Given the description of an element on the screen output the (x, y) to click on. 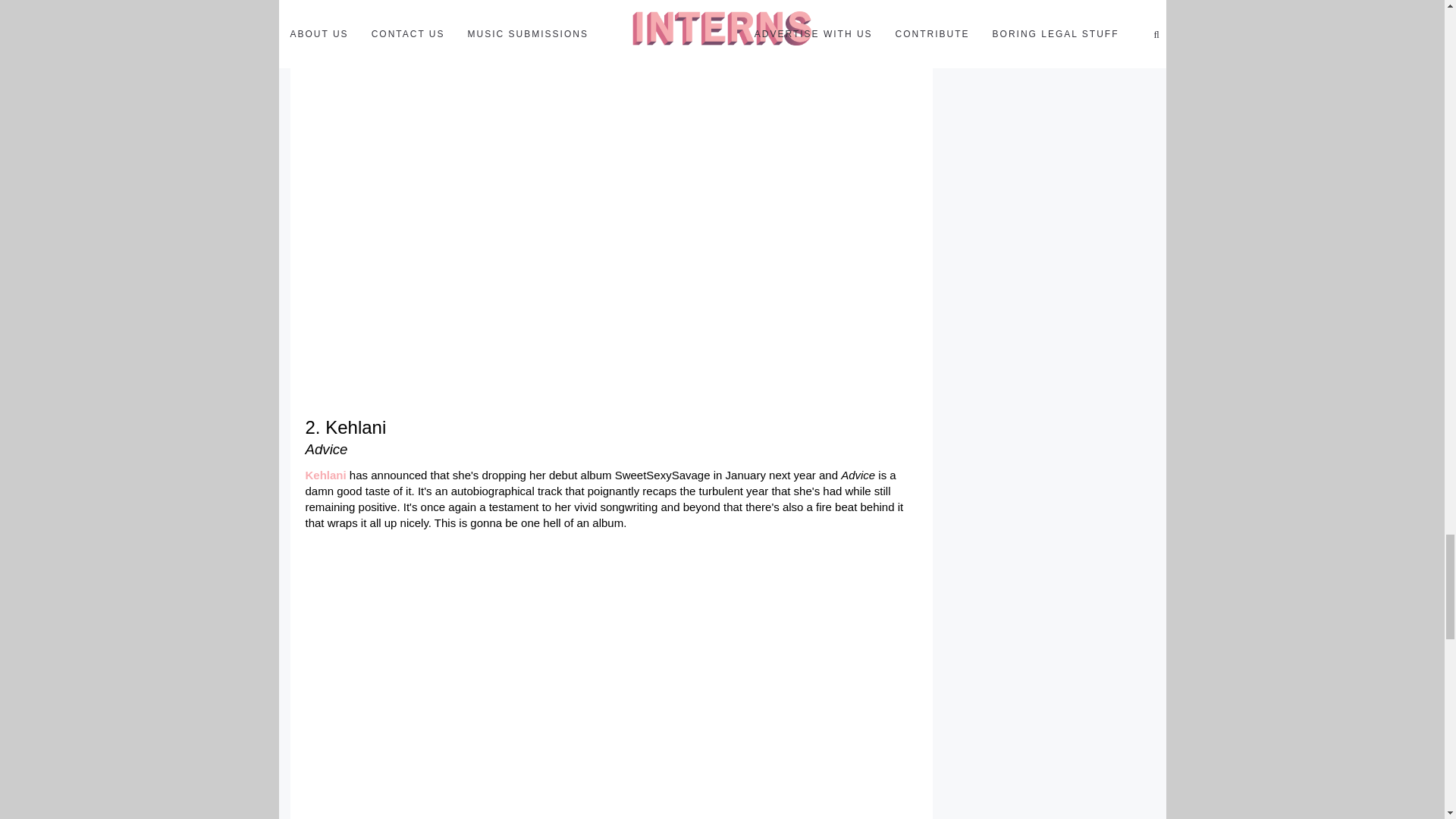
Kehlani (325, 474)
